Given the description of an element on the screen output the (x, y) to click on. 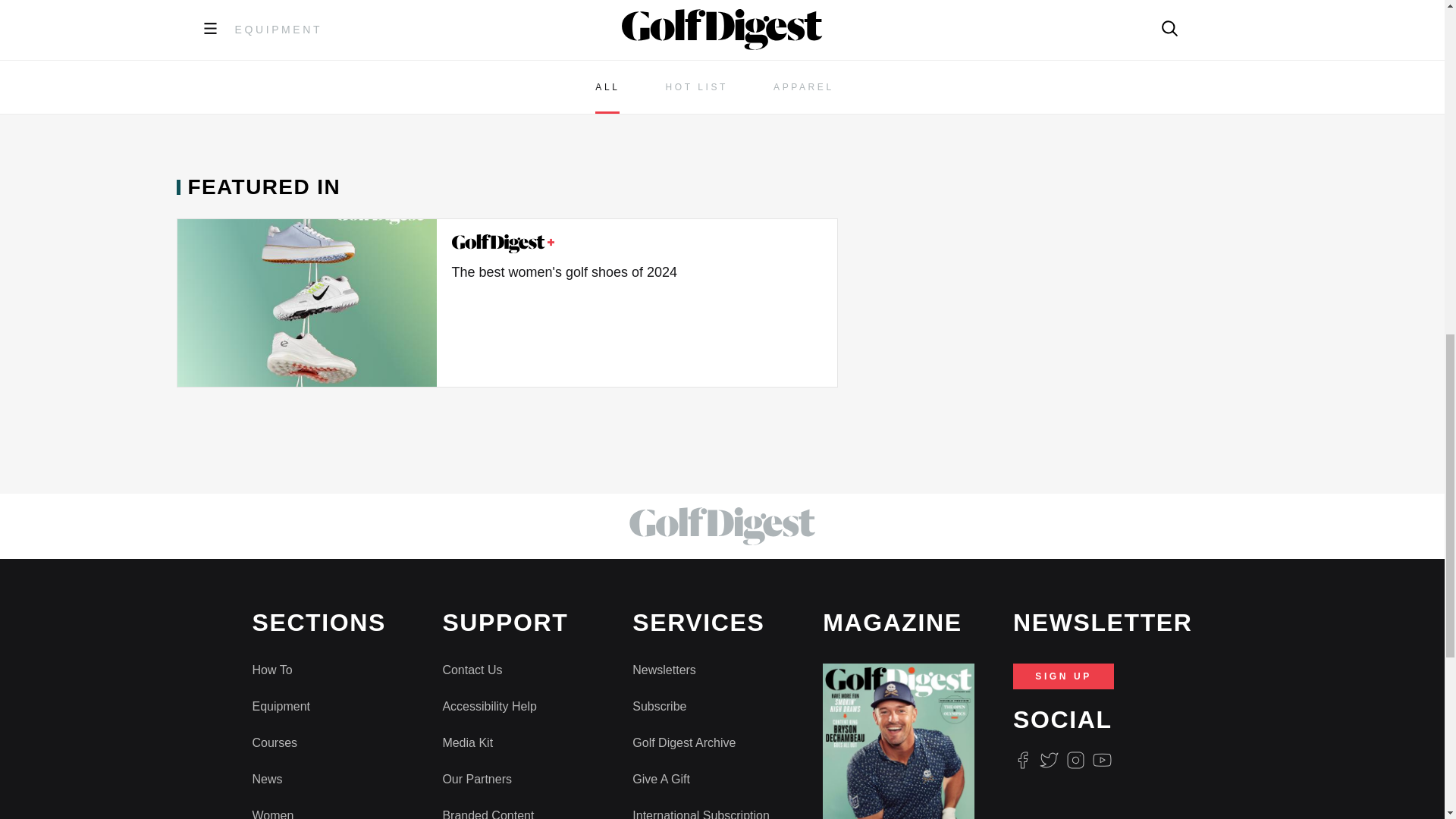
Twitter Logo (1048, 760)
Facebook Logo (1022, 760)
Youtube Icon (1102, 760)
Instagram Logo (1074, 760)
Golf Digest Logo (502, 243)
